Given the description of an element on the screen output the (x, y) to click on. 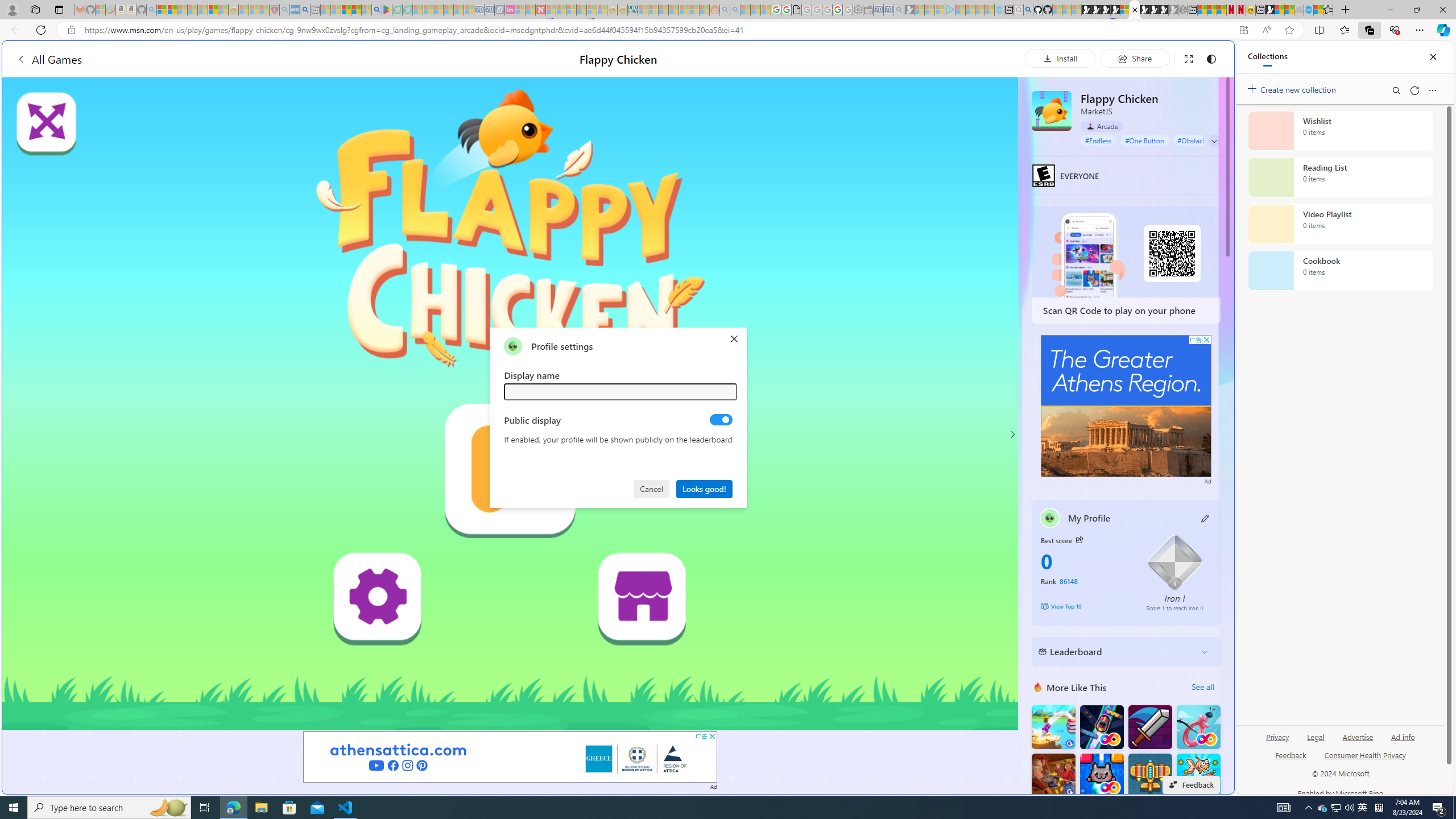
Frequently visited (965, 151)
Balloon FRVR (1198, 726)
Class: control (1214, 140)
Arcade (1101, 125)
Full screen (1187, 58)
